Given the description of an element on the screen output the (x, y) to click on. 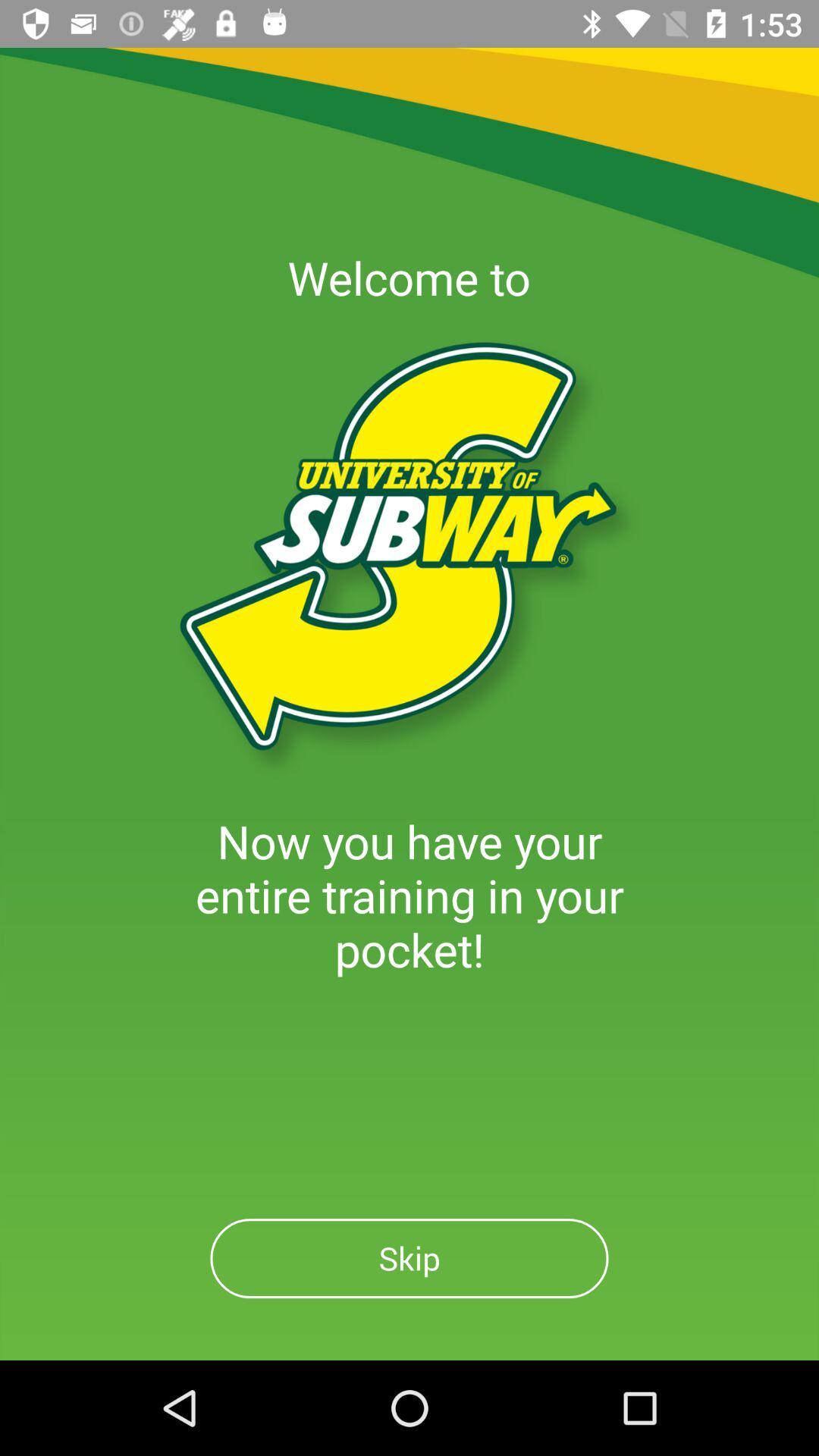
scroll to skip (409, 1258)
